Given the description of an element on the screen output the (x, y) to click on. 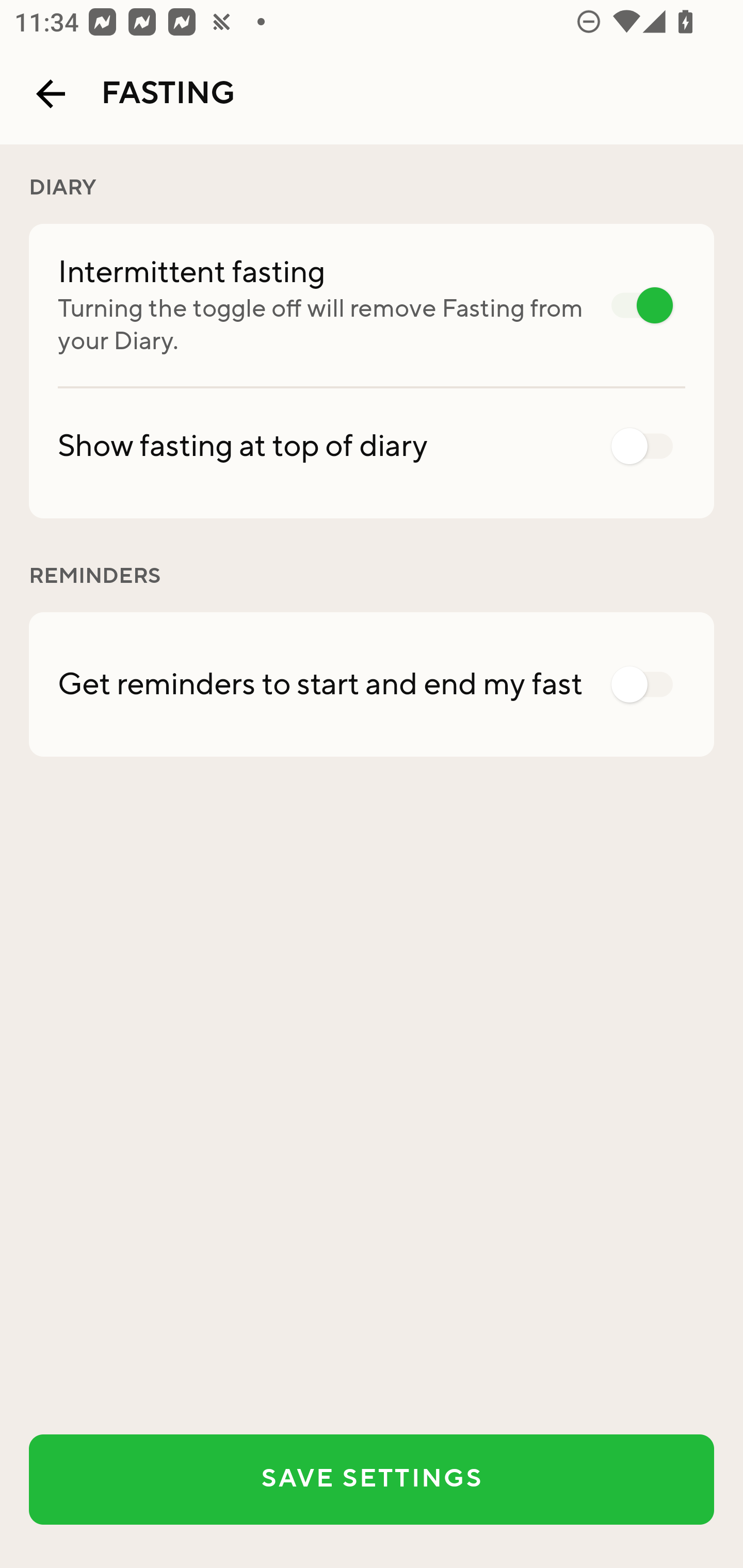
SAVE SETTINGS (371, 1479)
